Given the description of an element on the screen output the (x, y) to click on. 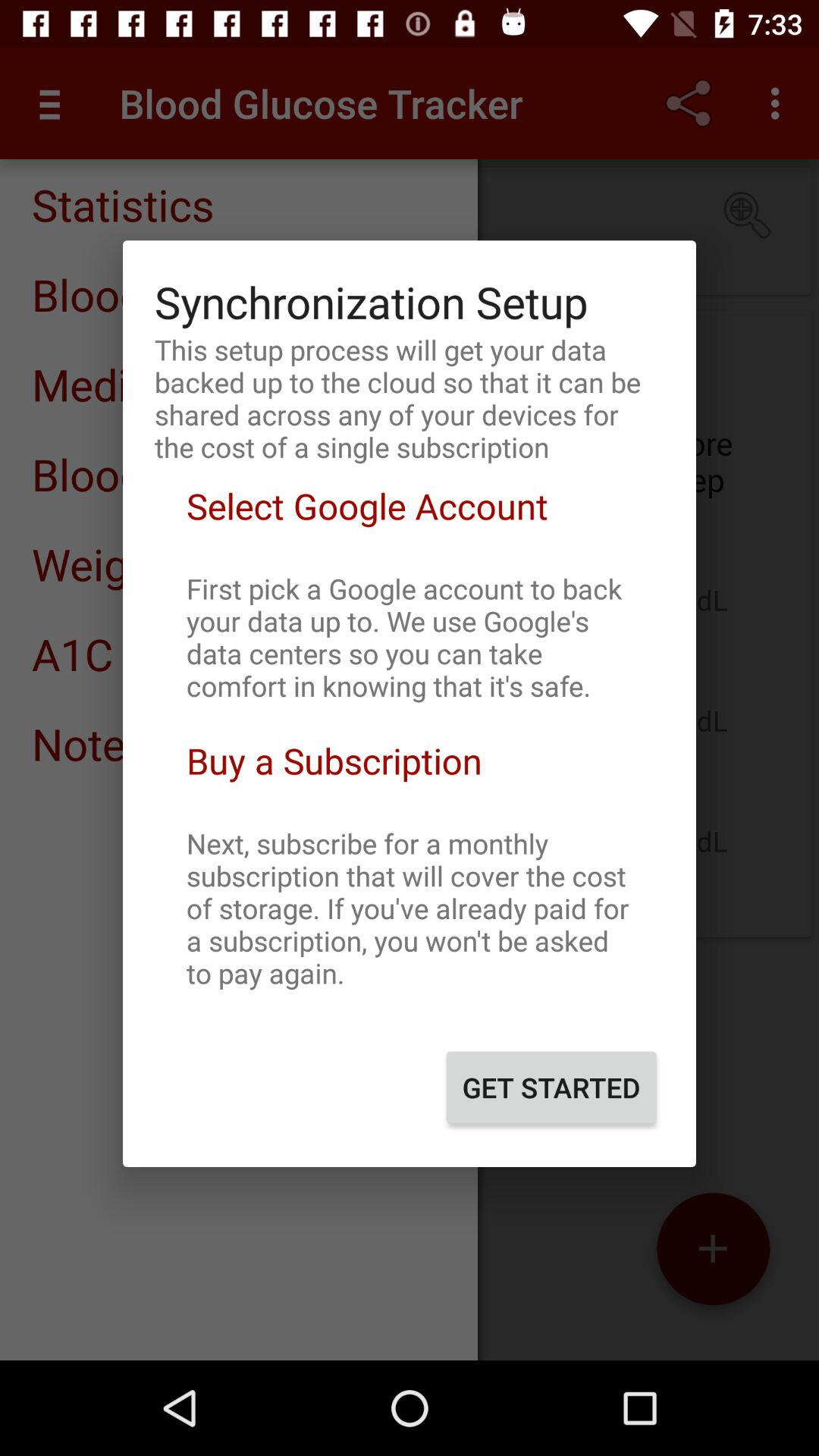
choose the icon at the bottom right corner (551, 1087)
